Given the description of an element on the screen output the (x, y) to click on. 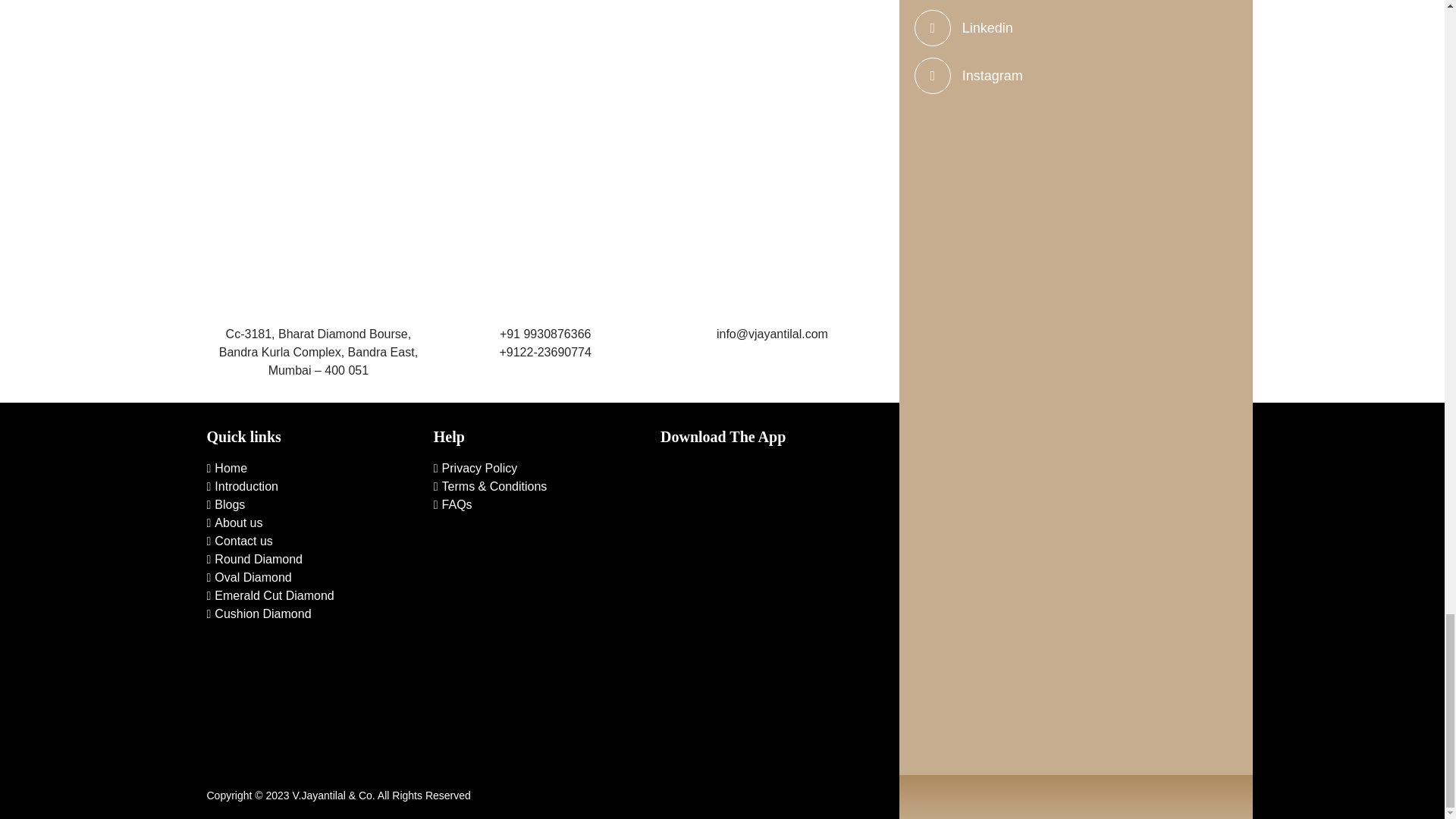
About us (234, 522)
Cushion Diamond (258, 613)
Home (226, 468)
Blogs (225, 504)
Introduction (242, 486)
Round Diamond (253, 558)
Contact us (239, 540)
Oval Diamond (248, 576)
Privacy Policy (474, 468)
Emerald Cut Diamond (269, 594)
